Given the description of an element on the screen output the (x, y) to click on. 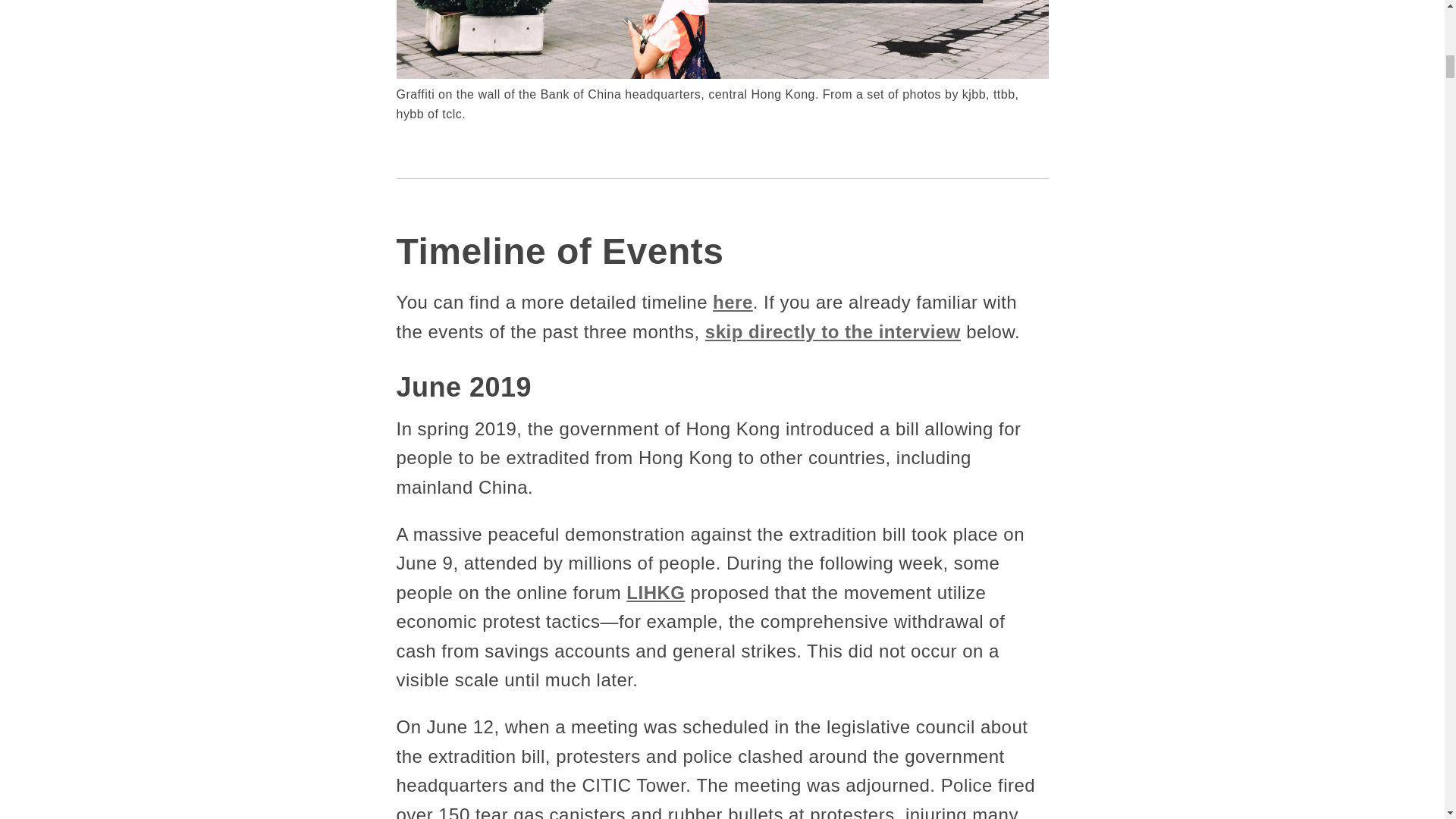
LIHKG (655, 592)
here (732, 301)
skip directly to the interview (832, 331)
